Given the description of an element on the screen output the (x, y) to click on. 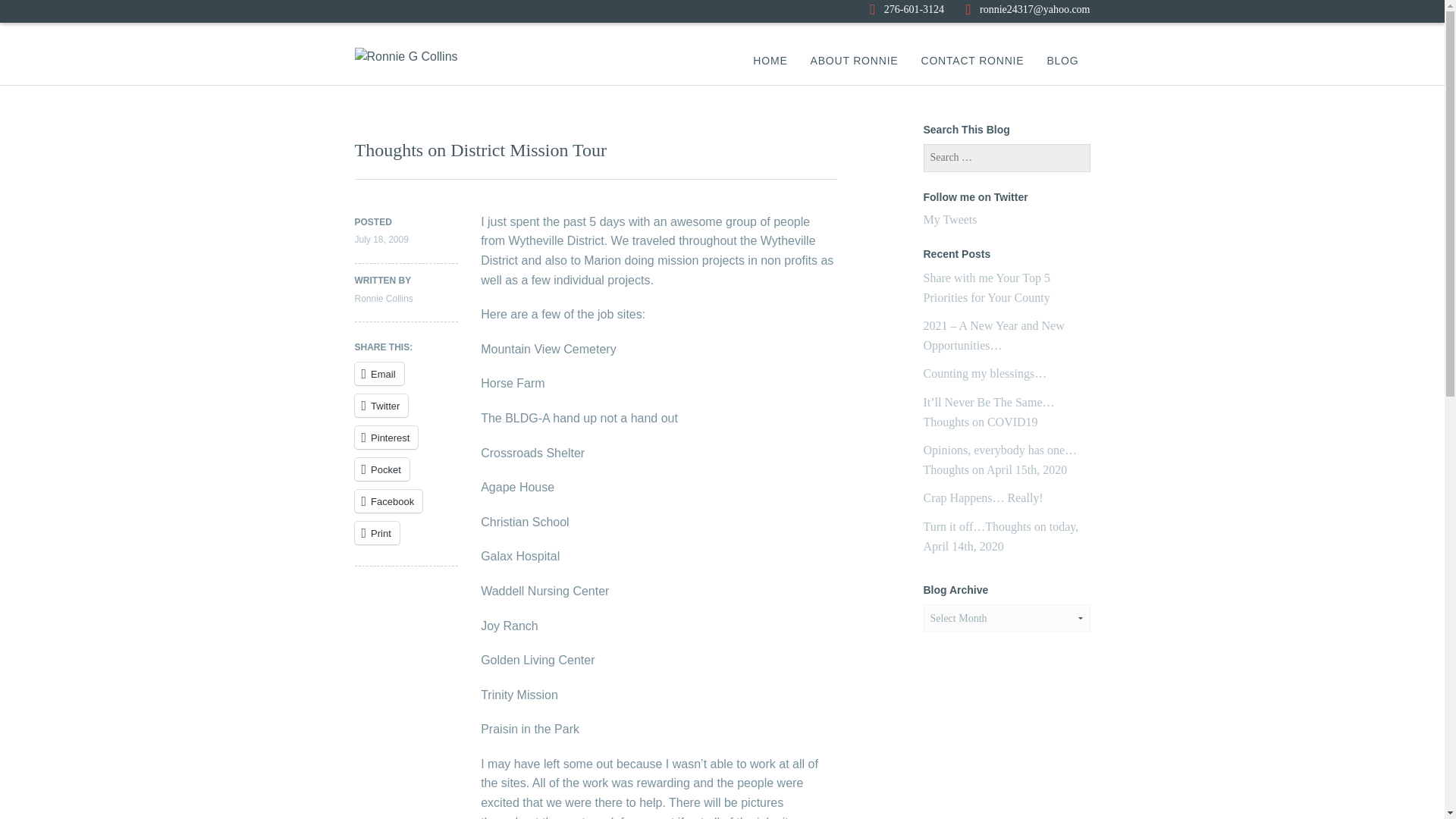
Search (31, 9)
CONTACT RONNIE (971, 60)
Email (379, 373)
Facebook (389, 500)
276-601-3124 (906, 8)
Click to share on Pocket (382, 468)
My Tweets (949, 219)
Print (376, 532)
Pocket (382, 468)
Click to email a link to a friend (379, 373)
